Given the description of an element on the screen output the (x, y) to click on. 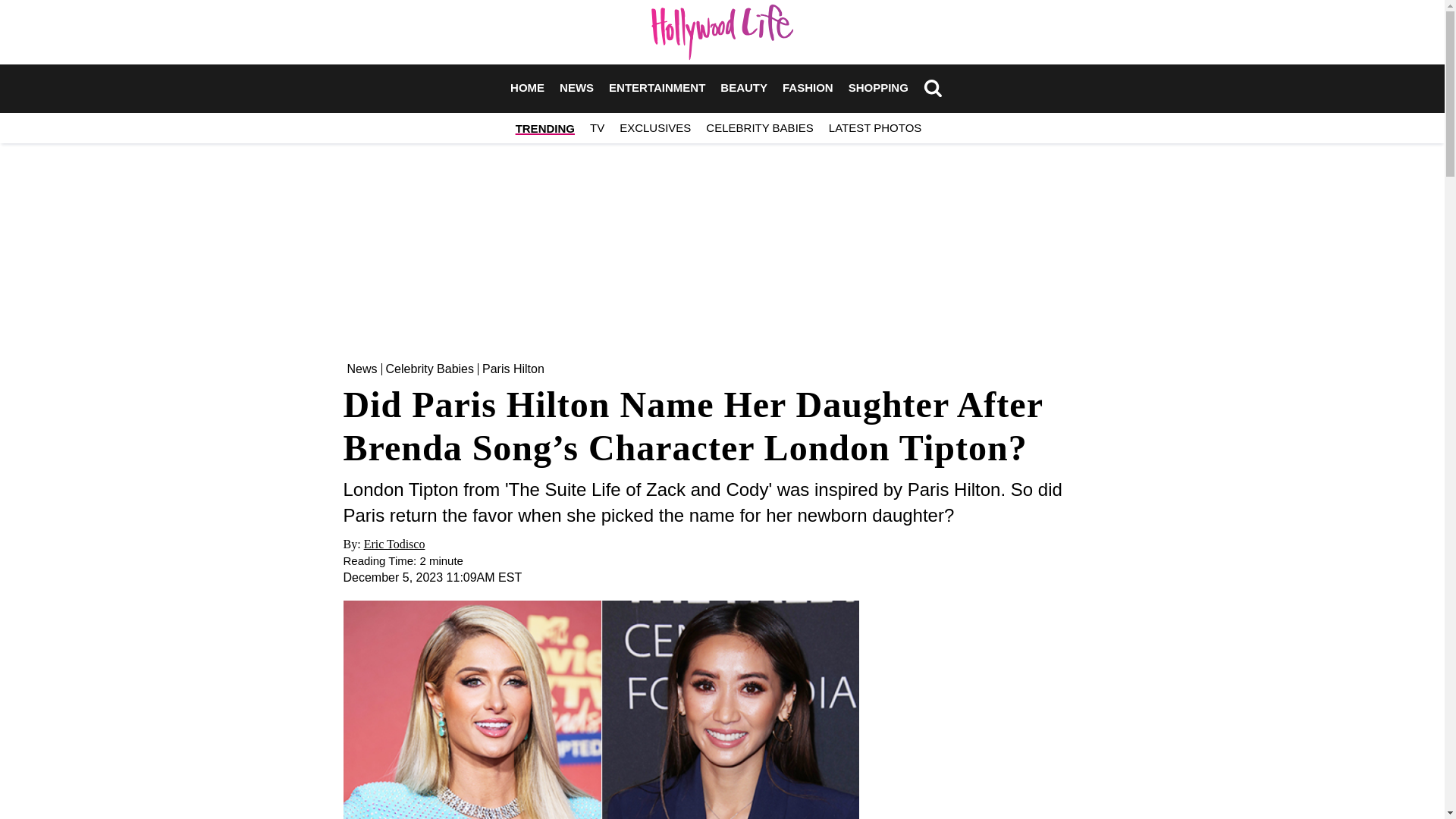
FASHION (807, 88)
SHOPPING (878, 88)
BEAUTY (743, 88)
Hollywood Life (722, 32)
ENTERTAINMENT (656, 88)
Posts by Eric Todisco (394, 543)
